Given the description of an element on the screen output the (x, y) to click on. 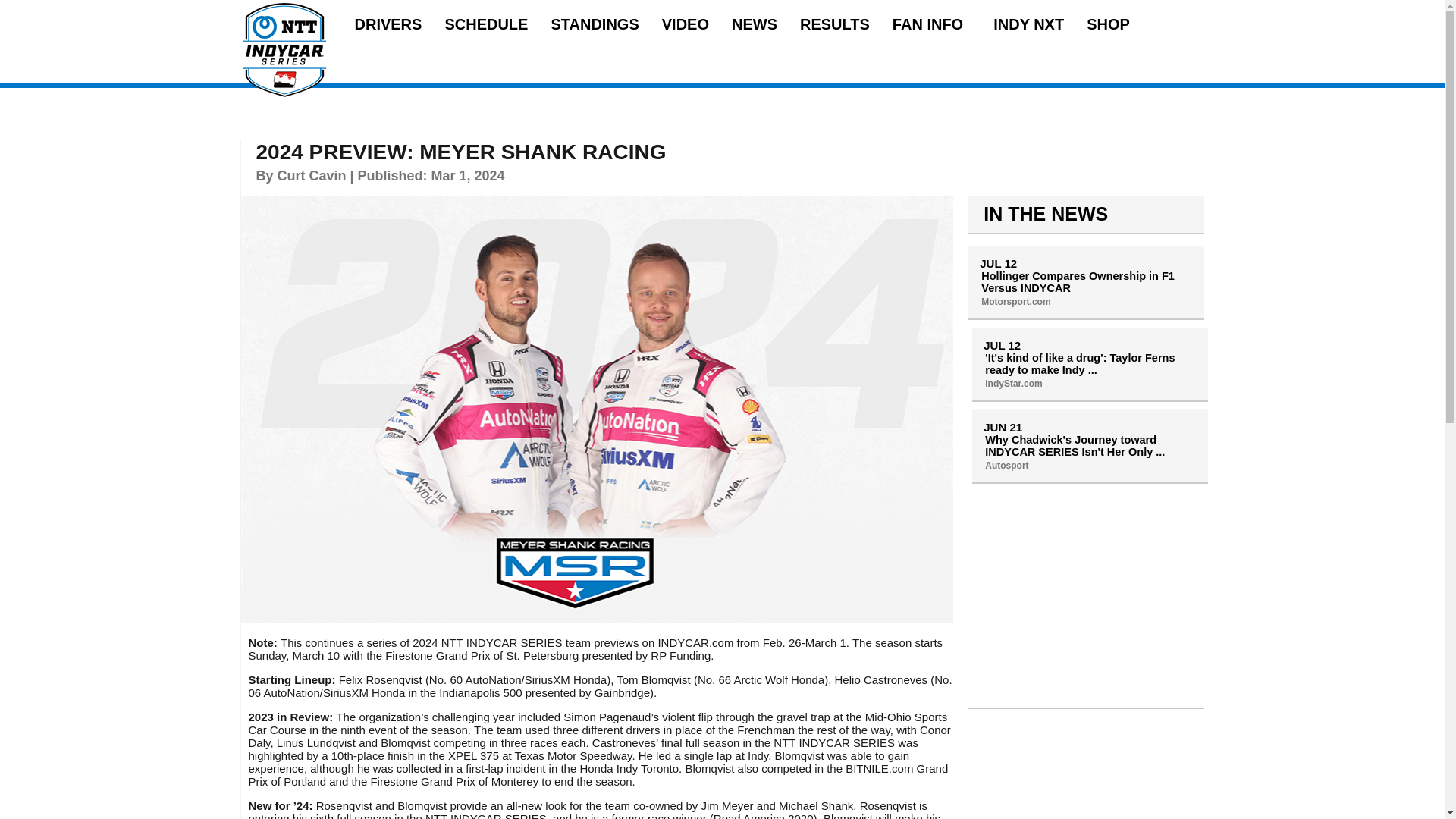
INDY NXT (1028, 24)
SHOP (1107, 24)
DRIVERS (388, 24)
STANDINGS (594, 24)
FAN INFO (931, 24)
NEWS (754, 24)
VIDEO (685, 24)
RESULTS (834, 24)
SCHEDULE (485, 24)
